Given the description of an element on the screen output the (x, y) to click on. 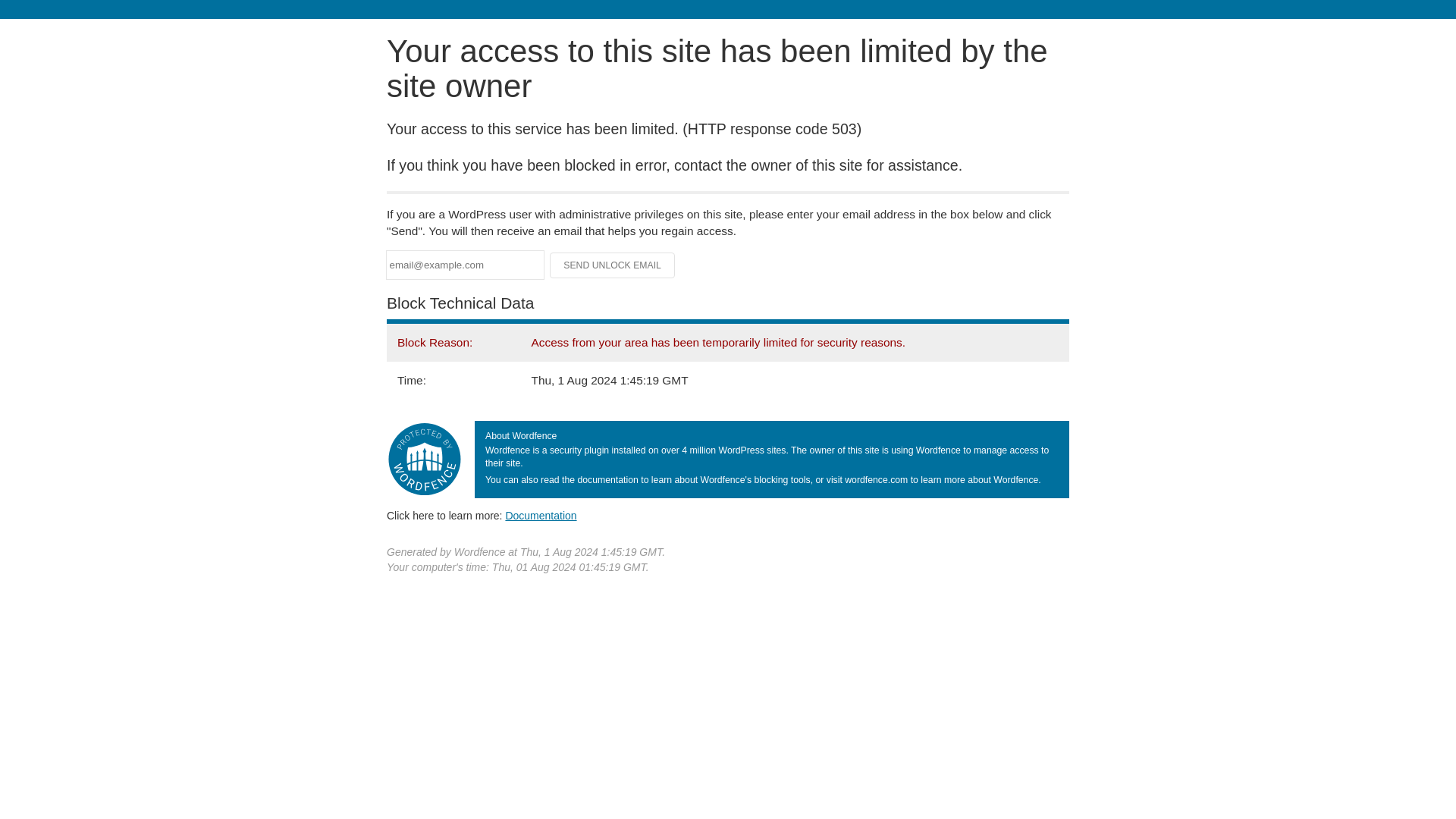
Send Unlock Email (612, 265)
Send Unlock Email (612, 265)
Documentation (540, 515)
